Given the description of an element on the screen output the (x, y) to click on. 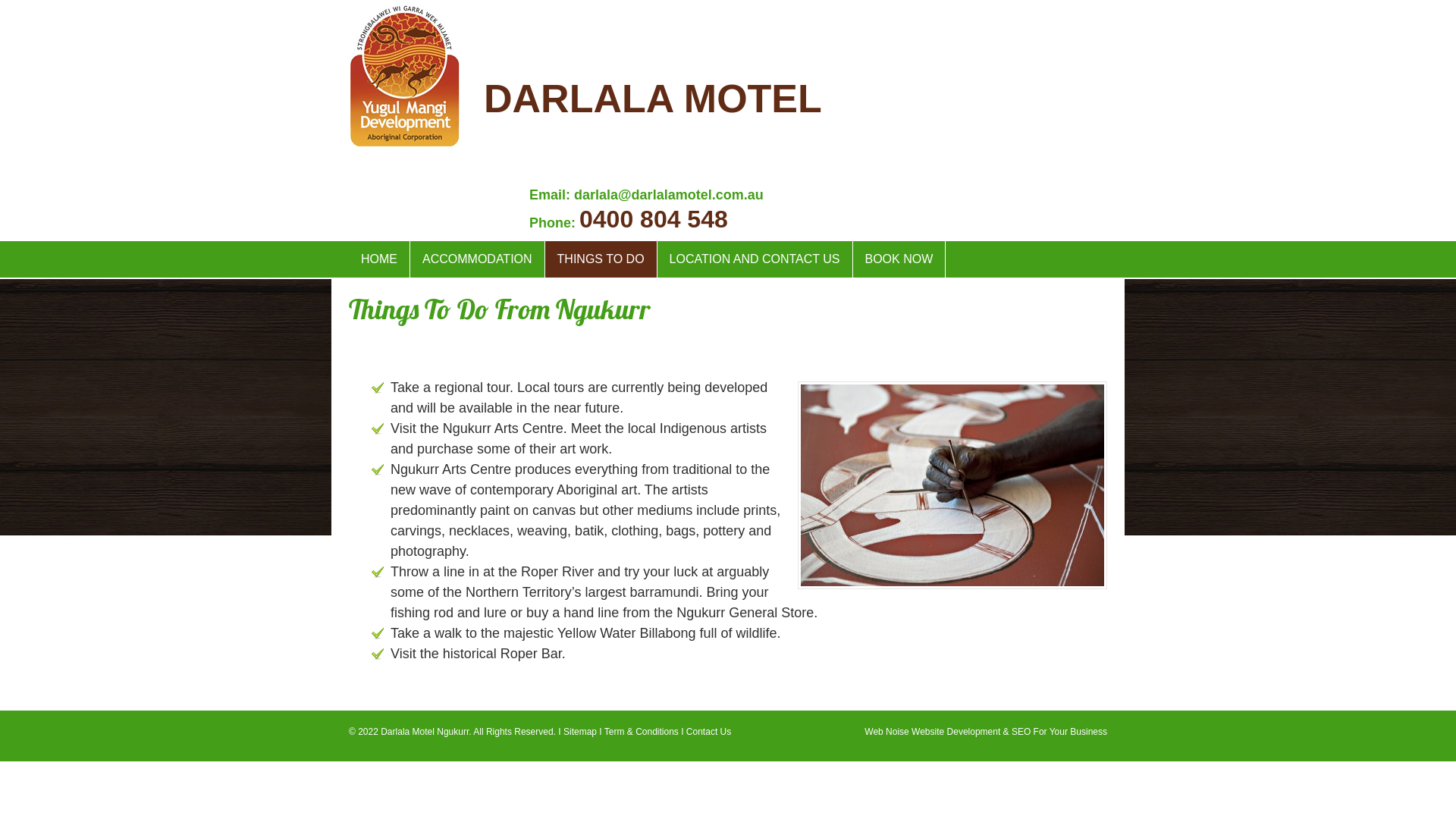
Web Noise Element type: text (886, 731)
ACCOMMODATION Element type: text (477, 259)
Sitemap Element type: text (579, 731)
LOCATION AND CONTACT US Element type: text (755, 259)
BOOK NOW Element type: text (898, 259)
HOME Element type: text (379, 259)
Contact Us Element type: text (708, 731)
THINGS TO DO Element type: text (601, 259)
Term & Conditions Element type: text (641, 731)
Ngukurr Accommodation Northern Territory Element type: hover (404, 141)
darlala@darlalamotel.com.au Element type: text (668, 194)
